Given the description of an element on the screen output the (x, y) to click on. 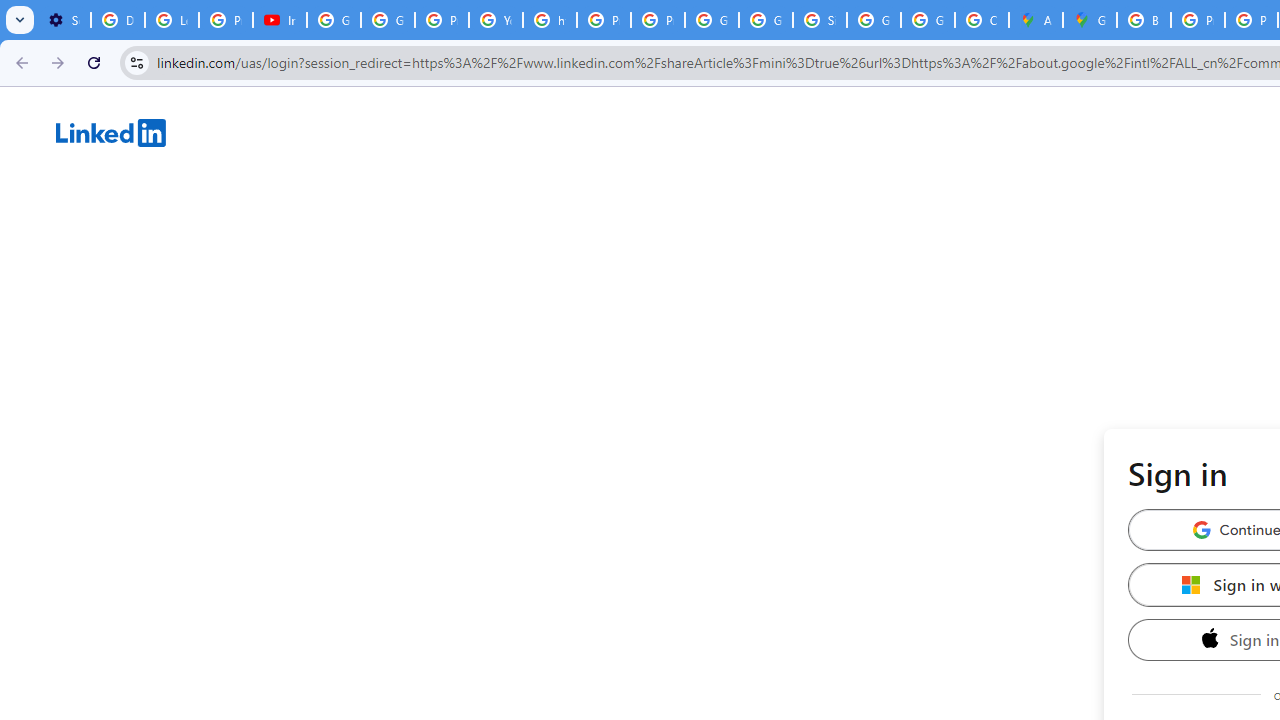
Create your Google Account (981, 20)
